Given the description of an element on the screen output the (x, y) to click on. 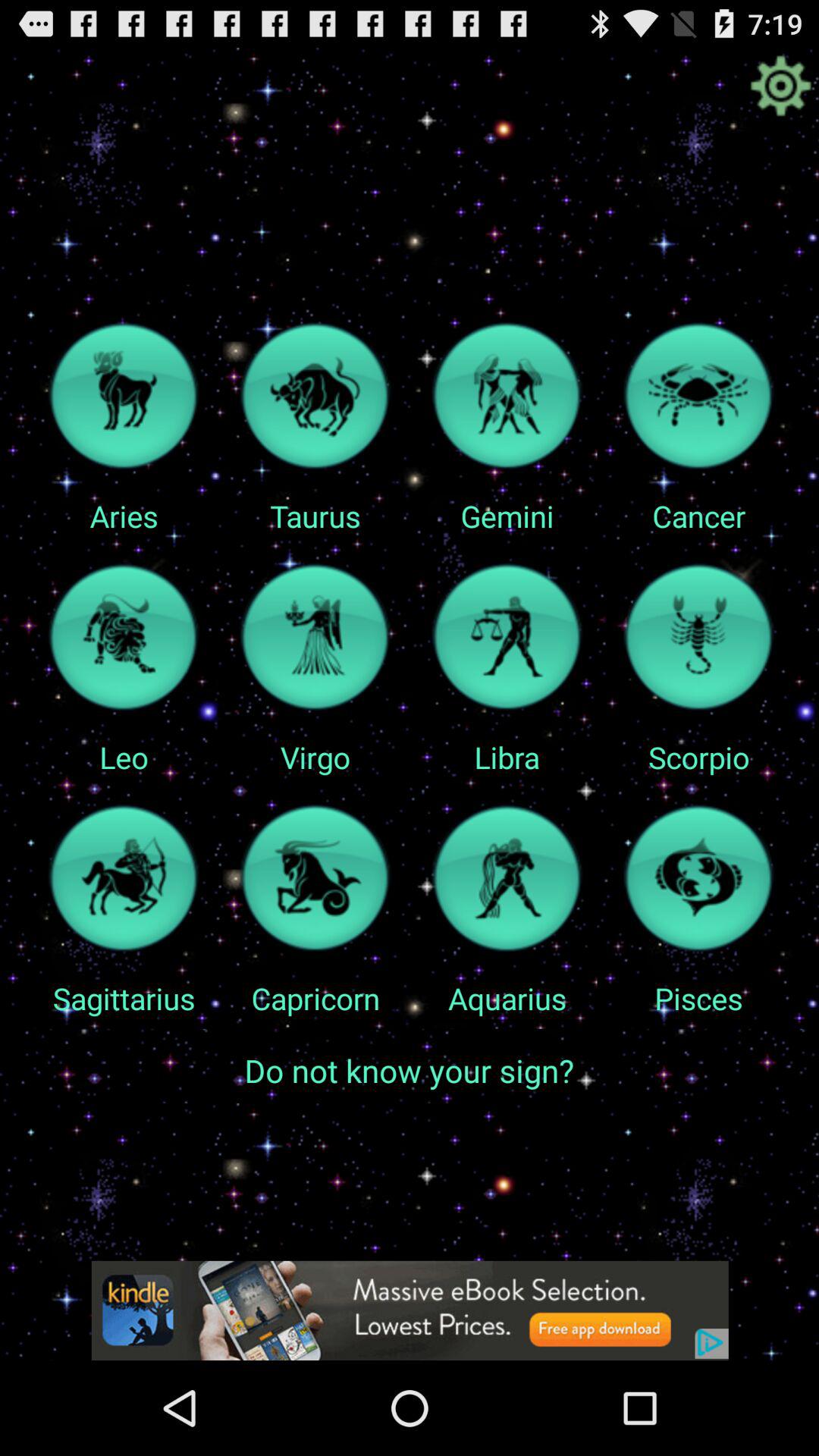
setting button (780, 85)
